Given the description of an element on the screen output the (x, y) to click on. 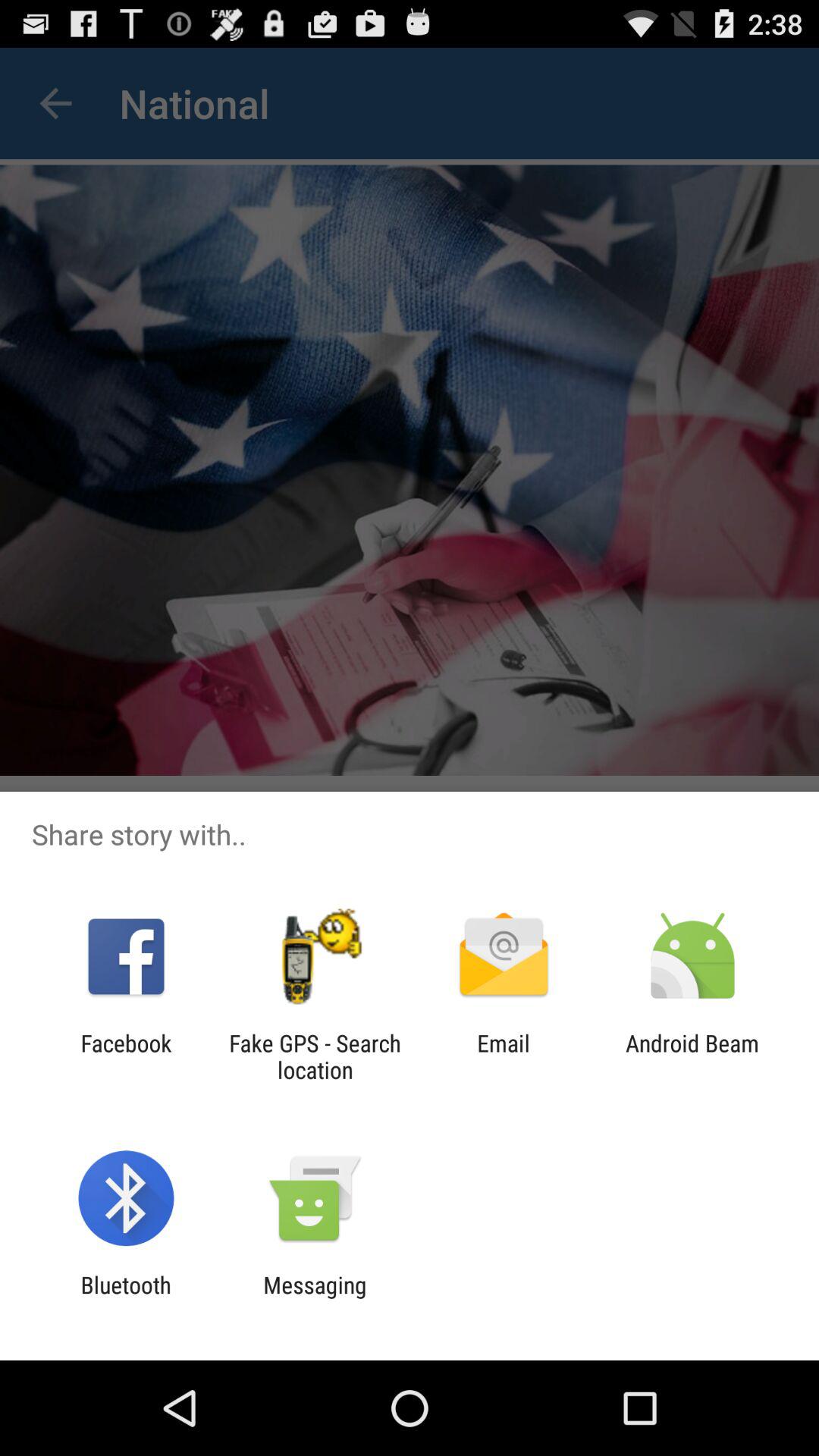
press the fake gps search (314, 1056)
